Given the description of an element on the screen output the (x, y) to click on. 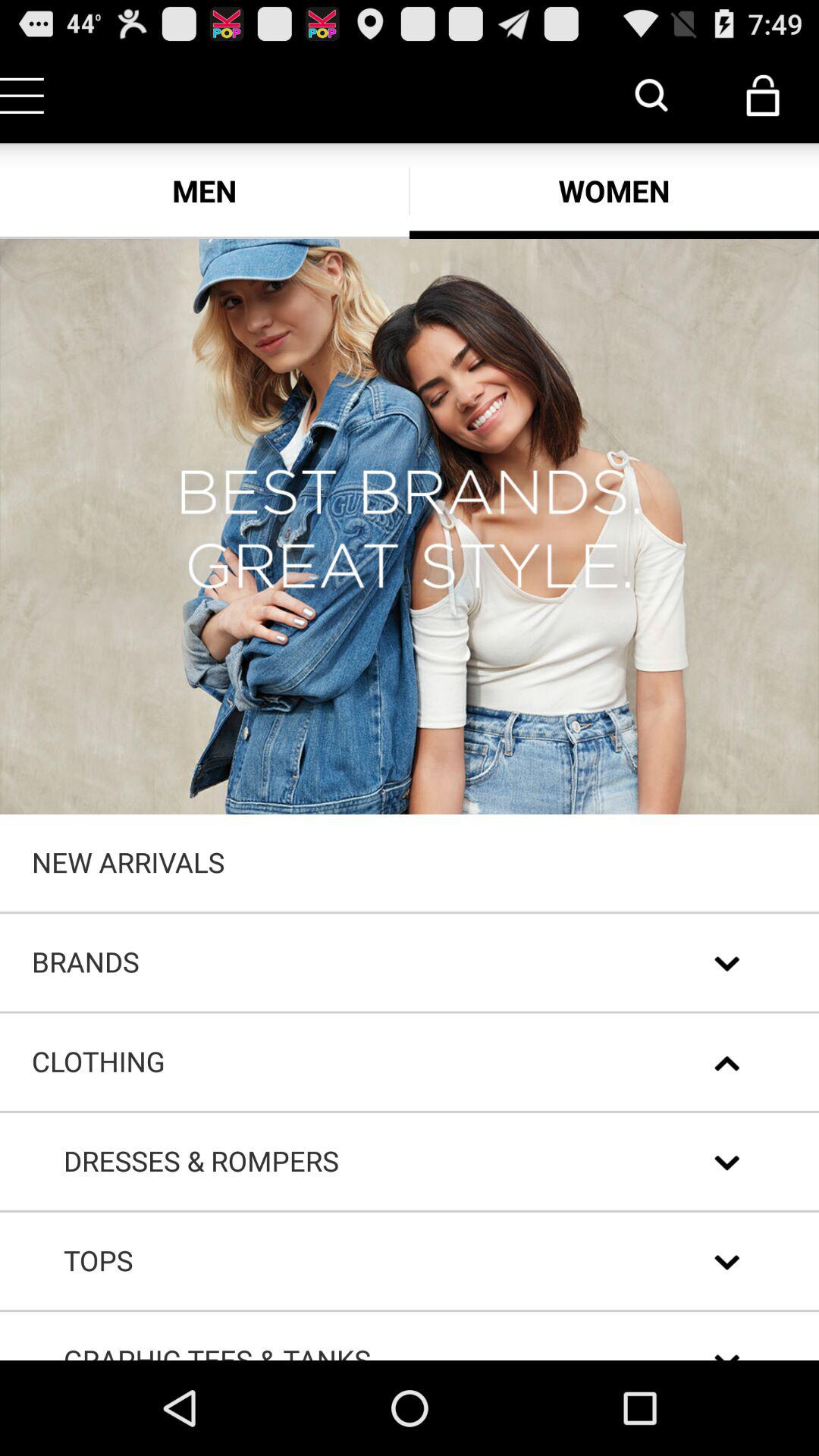
click on the second down arrow from bottom (727, 1261)
select the search icon at the right top corner of the page (651, 95)
